Given the description of an element on the screen output the (x, y) to click on. 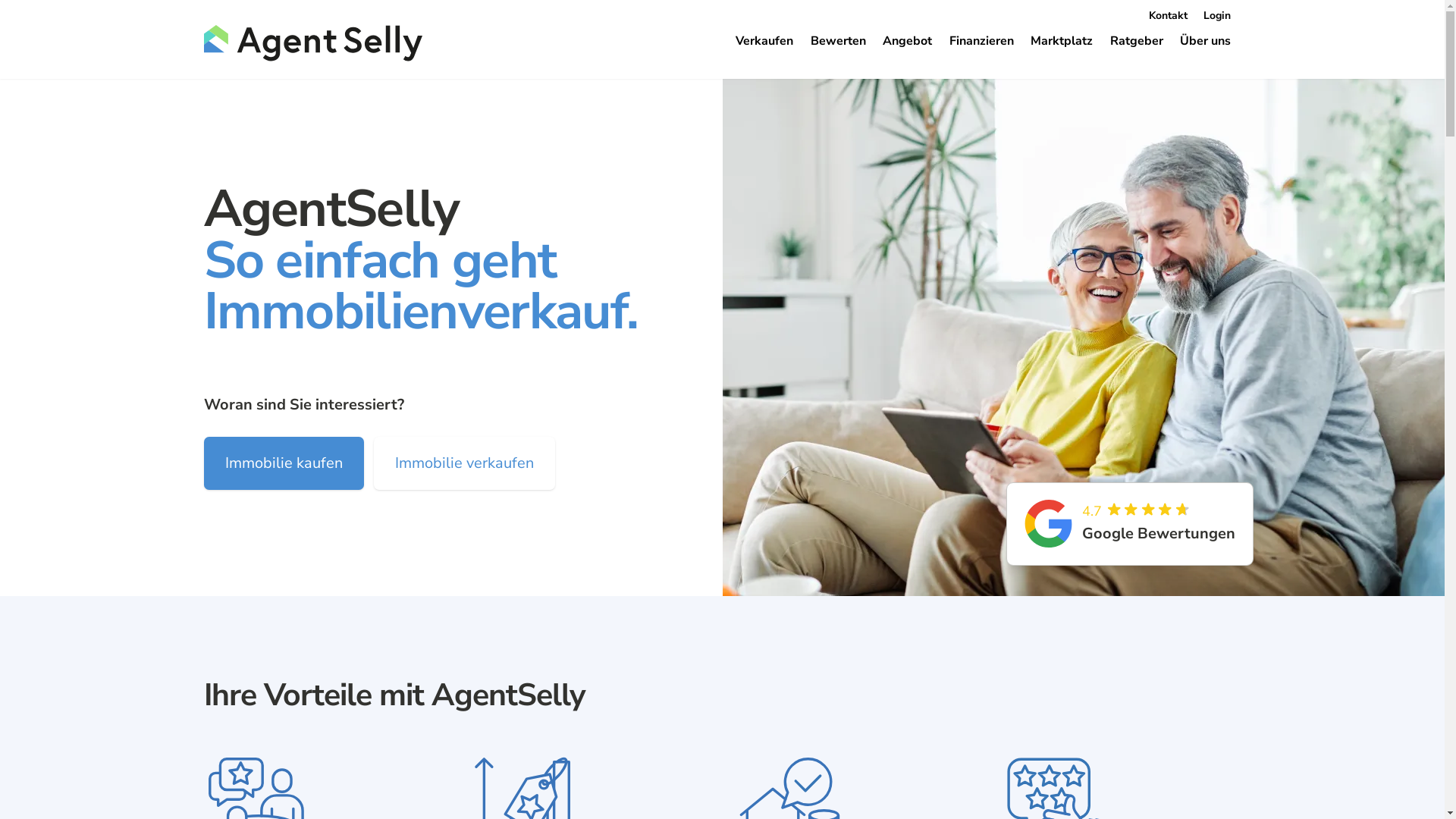
Marktplatz Element type: text (1061, 41)
Verkaufen Element type: text (764, 41)
Angebot Element type: text (906, 41)
4.7
Google Bewertungen Element type: text (1129, 523)
Kontakt Element type: text (1167, 14)
Login Element type: text (1216, 14)
Finanzieren Element type: text (981, 41)
Ratgeber Element type: text (1136, 41)
Bewerten Element type: text (837, 41)
Immobilie verkaufen Element type: text (464, 462)
Immobilie kaufen Element type: text (283, 462)
